Given the description of an element on the screen output the (x, y) to click on. 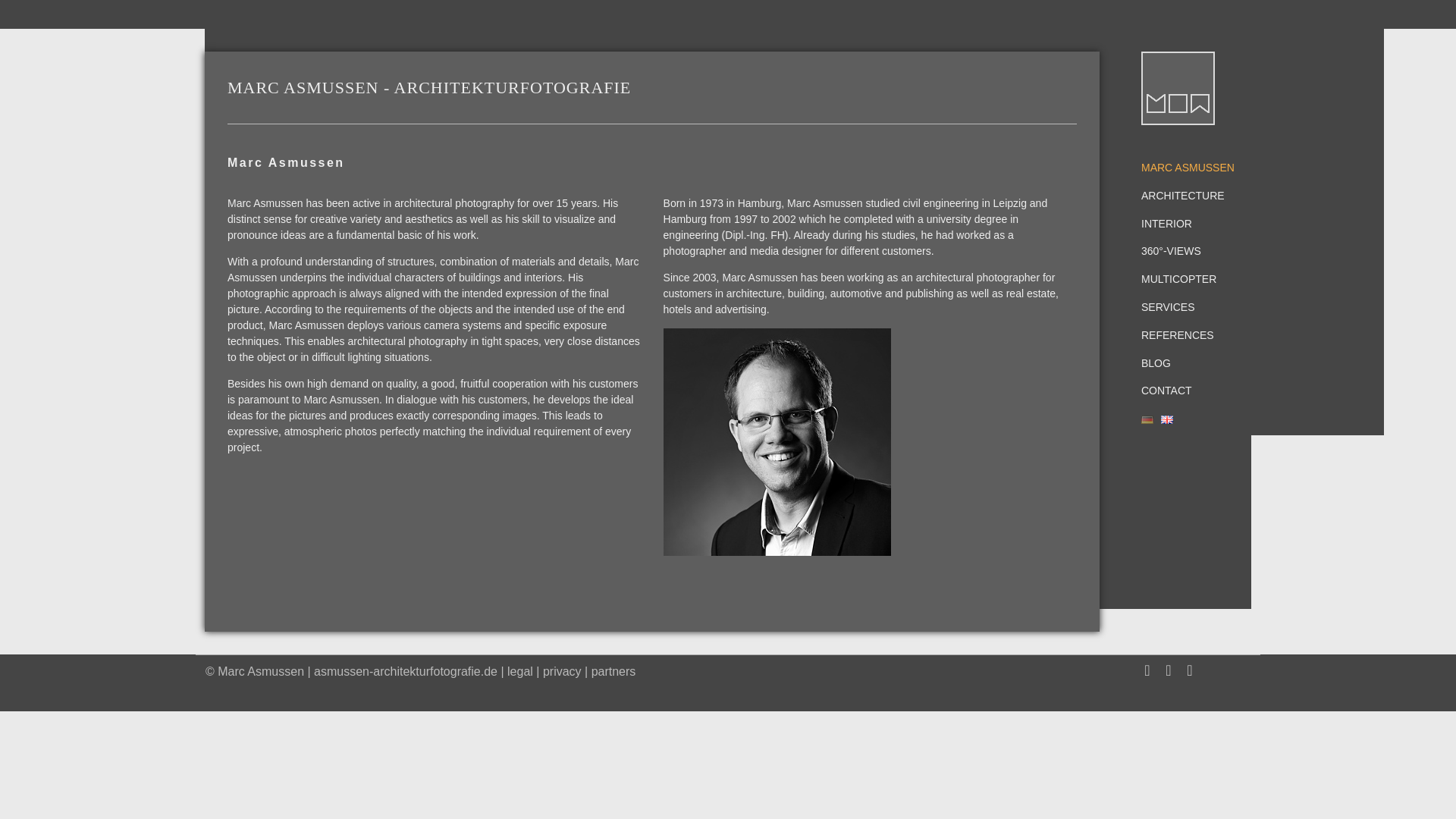
legal (519, 671)
privacy (561, 671)
MULTICOPTER (1191, 279)
partners (613, 671)
Marc Asmussen (260, 671)
MARC ASMUSSEN (1191, 167)
REFERENCES (1191, 335)
SERVICES (1191, 307)
CONTACT (1191, 390)
INTERIOR (1191, 223)
